Given the description of an element on the screen output the (x, y) to click on. 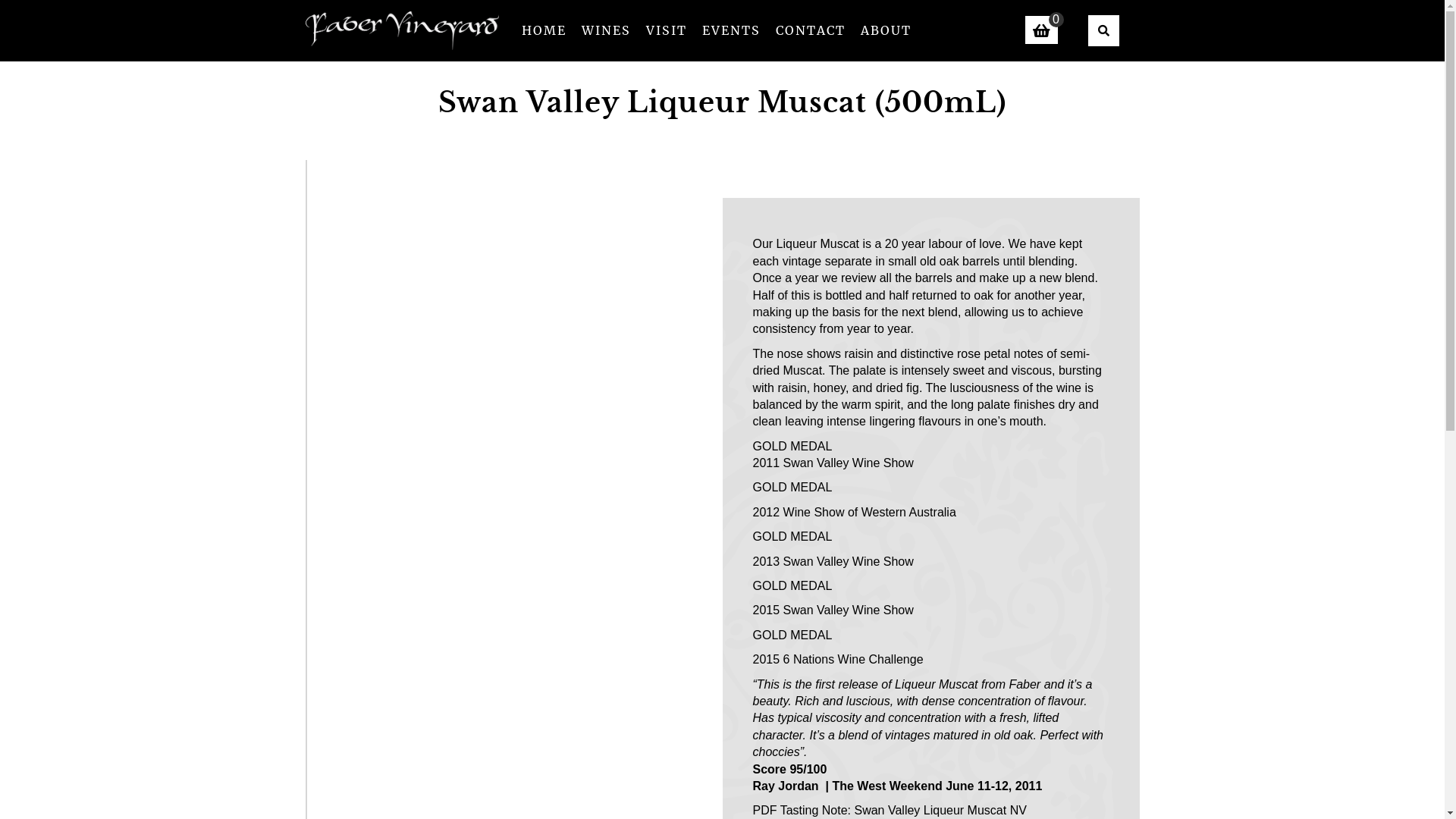
Faber Logo Hi Res White On Transparent Element type: hover (401, 30)
ABOUT Element type: text (885, 30)
CONTACT Element type: text (809, 30)
VISIT Element type: text (666, 30)
EVENTS Element type: text (731, 30)
0 Element type: text (1041, 29)
WINES Element type: text (605, 30)
HOME Element type: text (544, 30)
PDF Tasting Note: Swan Valley Liqueur Muscat NV Element type: text (889, 809)
